Given the description of an element on the screen output the (x, y) to click on. 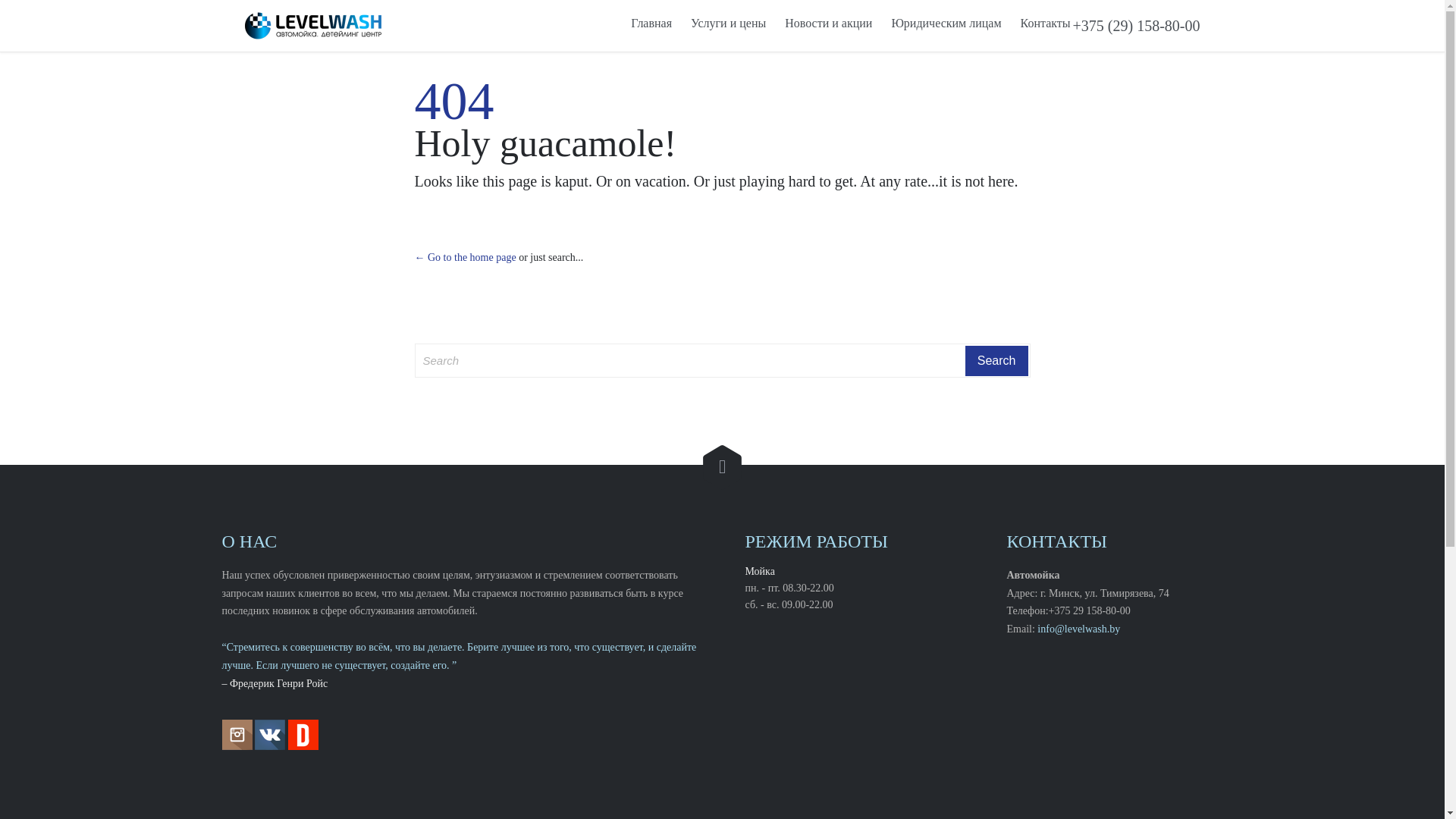
Skip to content Element type: text (1081, 10)
info@levelwash.by Element type: text (1078, 628)
+375 (29) 158-80-00 Element type: text (1136, 25)
Search Element type: text (996, 360)
